Given the description of an element on the screen output the (x, y) to click on. 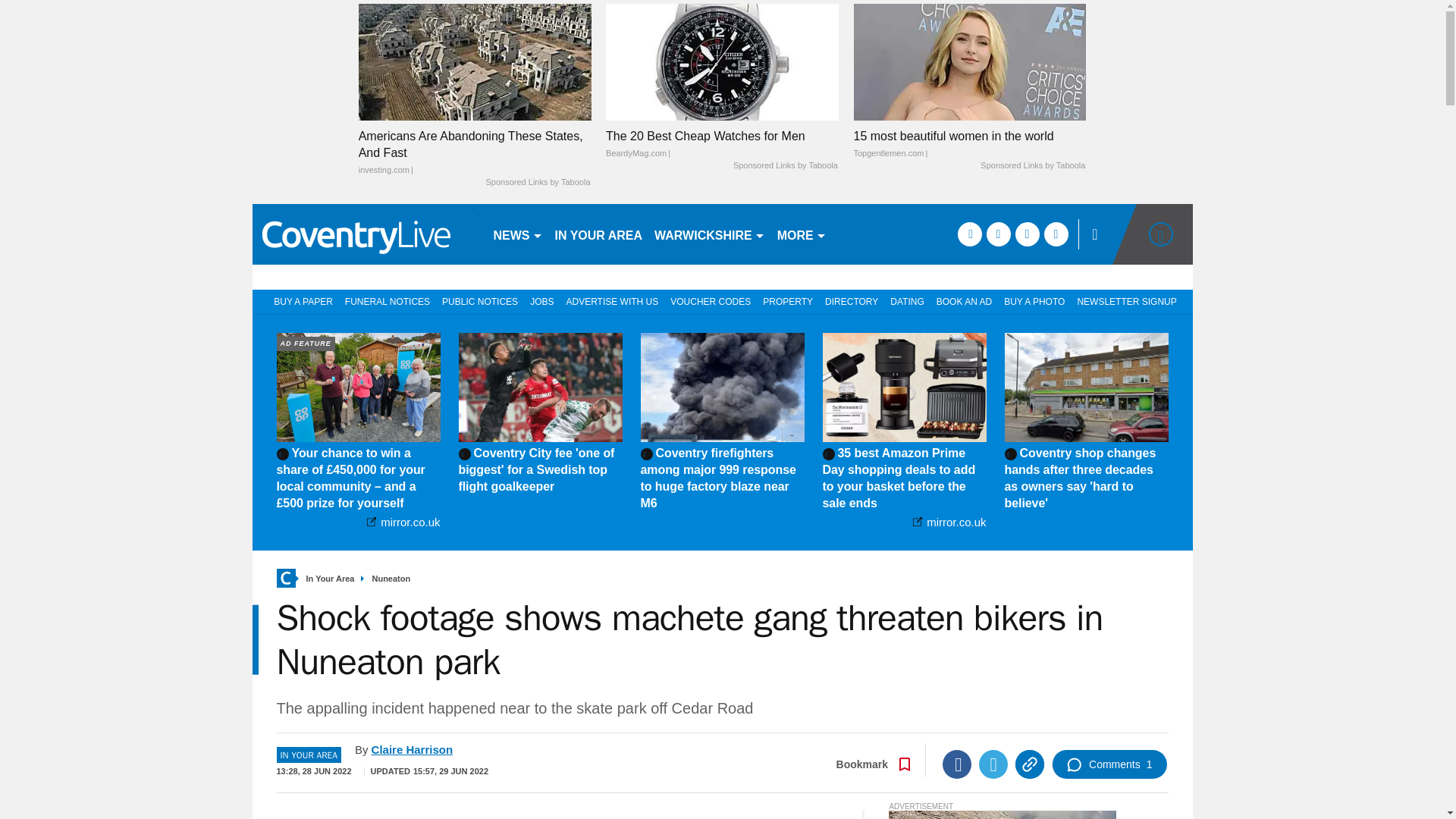
NEWS (517, 233)
Twitter (992, 764)
The 20 Best Cheap Watches for Men (721, 144)
Sponsored Links by Taboola (785, 165)
instagram (1055, 233)
Sponsored Links by Taboola (1031, 165)
Americans Are Abandoning These States, And Fast (474, 61)
twitter (997, 233)
Americans Are Abandoning These States, And Fast (474, 152)
15 most beautiful women in the world (969, 61)
Facebook (956, 764)
Sponsored Links by Taboola (536, 182)
The 20 Best Cheap Watches for Men (721, 61)
facebook (968, 233)
pinterest (1026, 233)
